Given the description of an element on the screen output the (x, y) to click on. 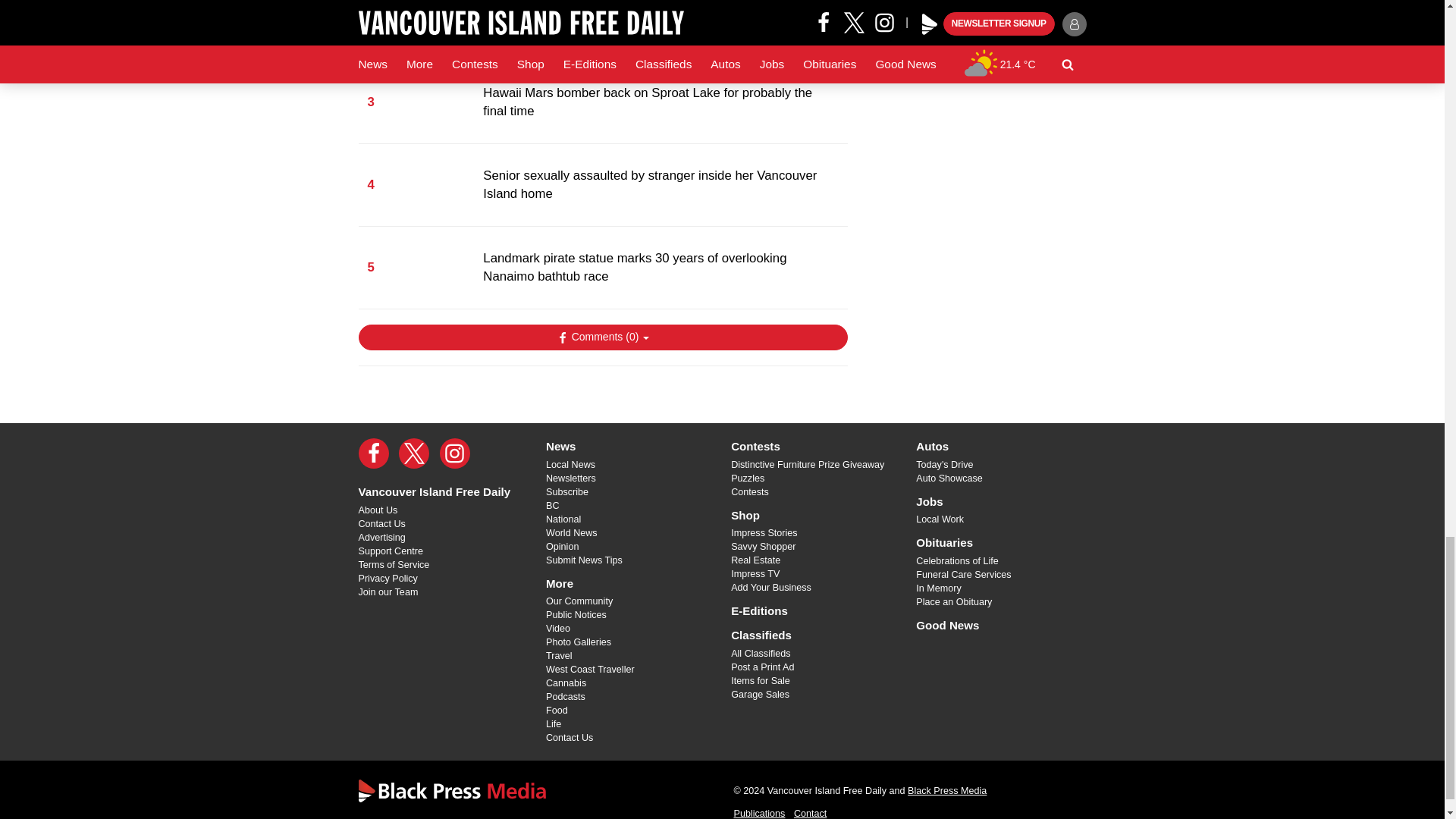
Facebook (373, 453)
Instagram (454, 453)
Show Comments (602, 337)
X (413, 453)
